Given the description of an element on the screen output the (x, y) to click on. 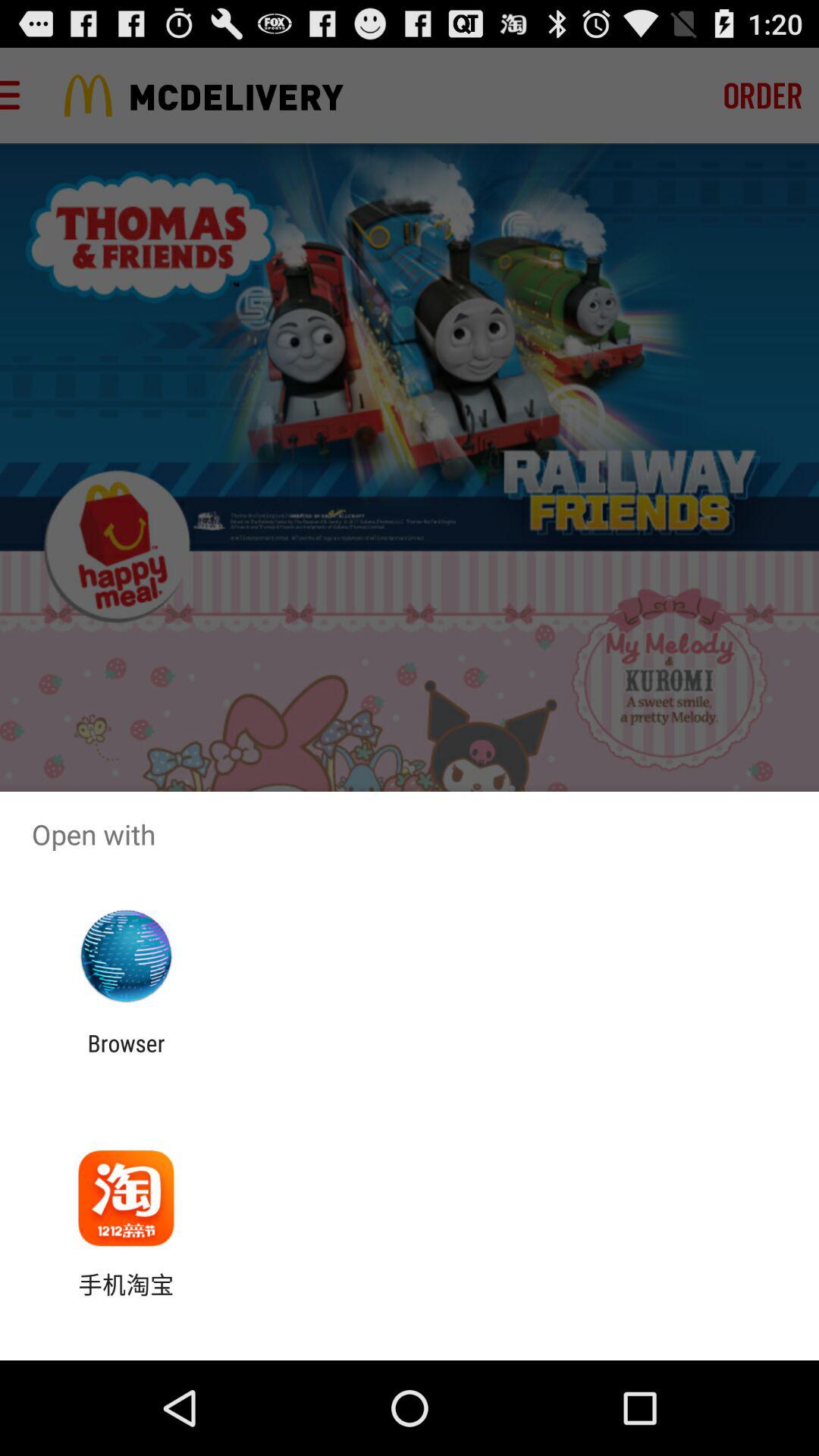
flip to browser icon (125, 1056)
